Given the description of an element on the screen output the (x, y) to click on. 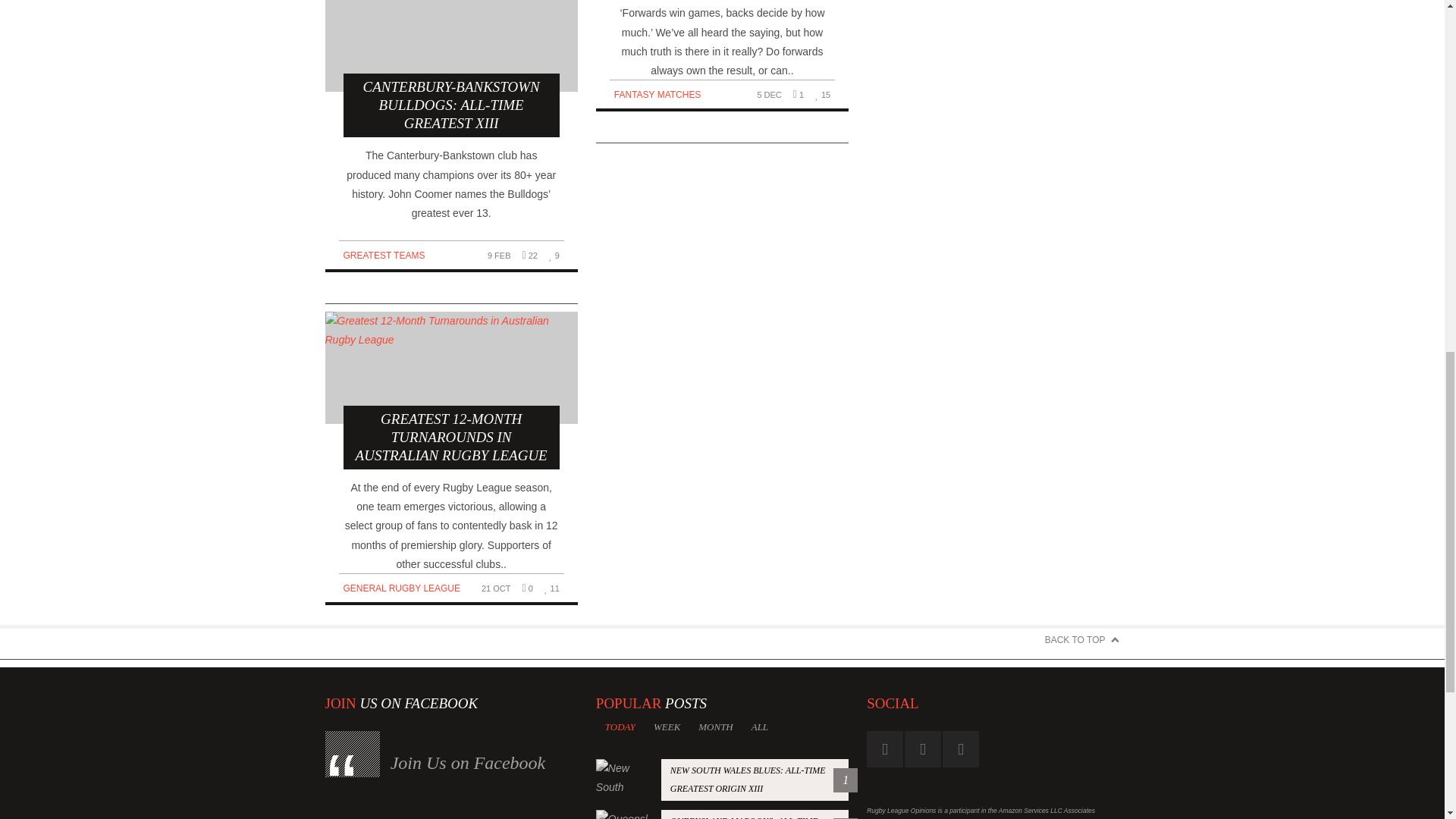
FANTASY MATCHES (657, 94)
WEEK (666, 726)
ALL (759, 726)
MONTH (714, 726)
Queensland Maroons: All-Time Greatest Origin XIII (721, 814)
GENERAL RUGBY LEAGUE (401, 588)
TODAY (620, 726)
New South Wales Blues: All-Time Greatest Origin XIII (721, 779)
Join Us on Facebook (468, 762)
View all posts in General Rugby League (401, 588)
BACK TO TOP (1082, 639)
View all posts in Fantasy Matches (657, 94)
GREATEST 12-MONTH TURNAROUNDS IN AUSTRALIAN RUGBY LEAGUE (450, 390)
CANTERBURY-BANKSTOWN BULLDOGS: ALL-TIME GREATEST XIII (450, 68)
